Given the description of an element on the screen output the (x, y) to click on. 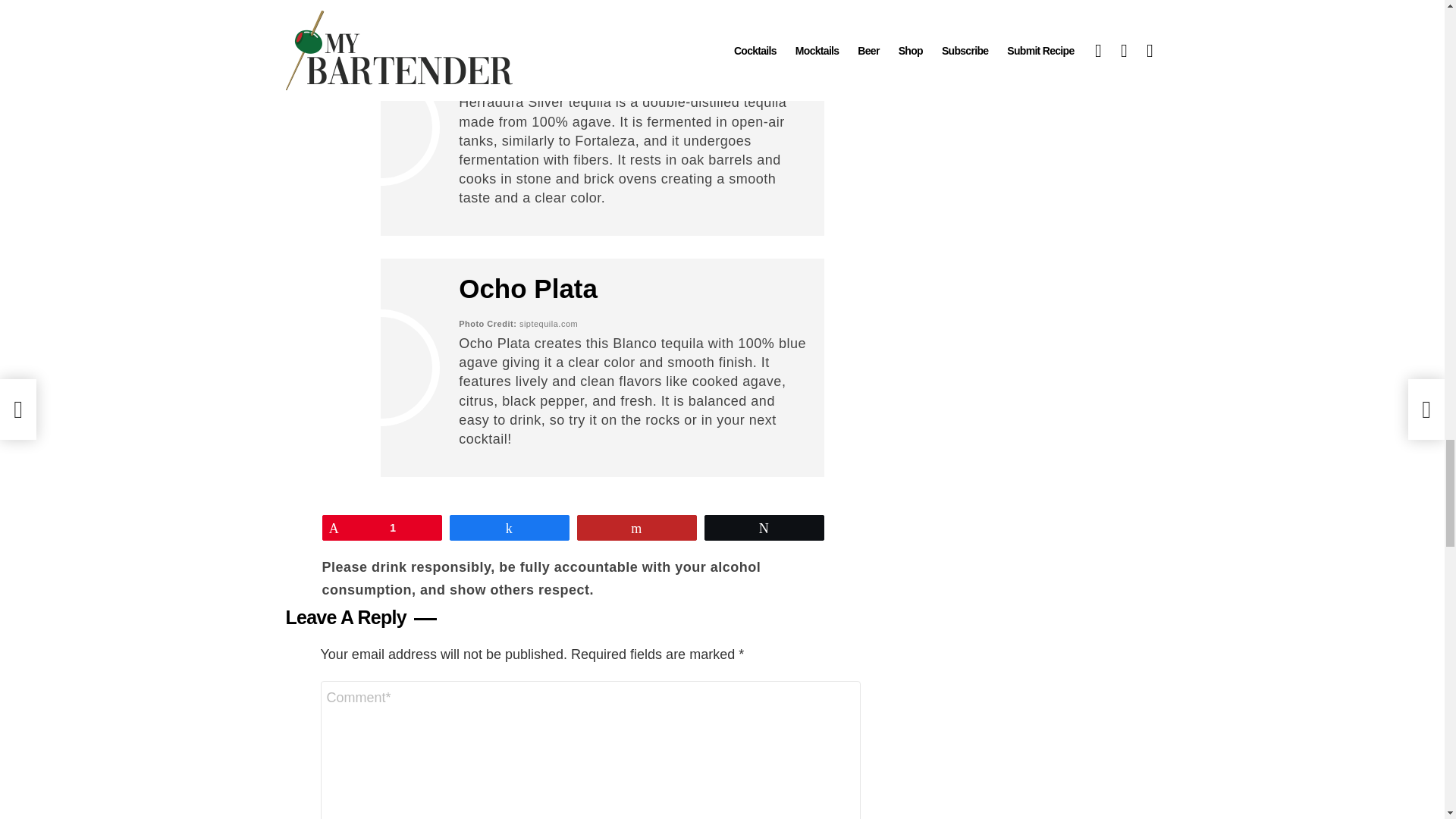
10 Must-Try Blanco Tequilas 10 (381, 127)
